Given the description of an element on the screen output the (x, y) to click on. 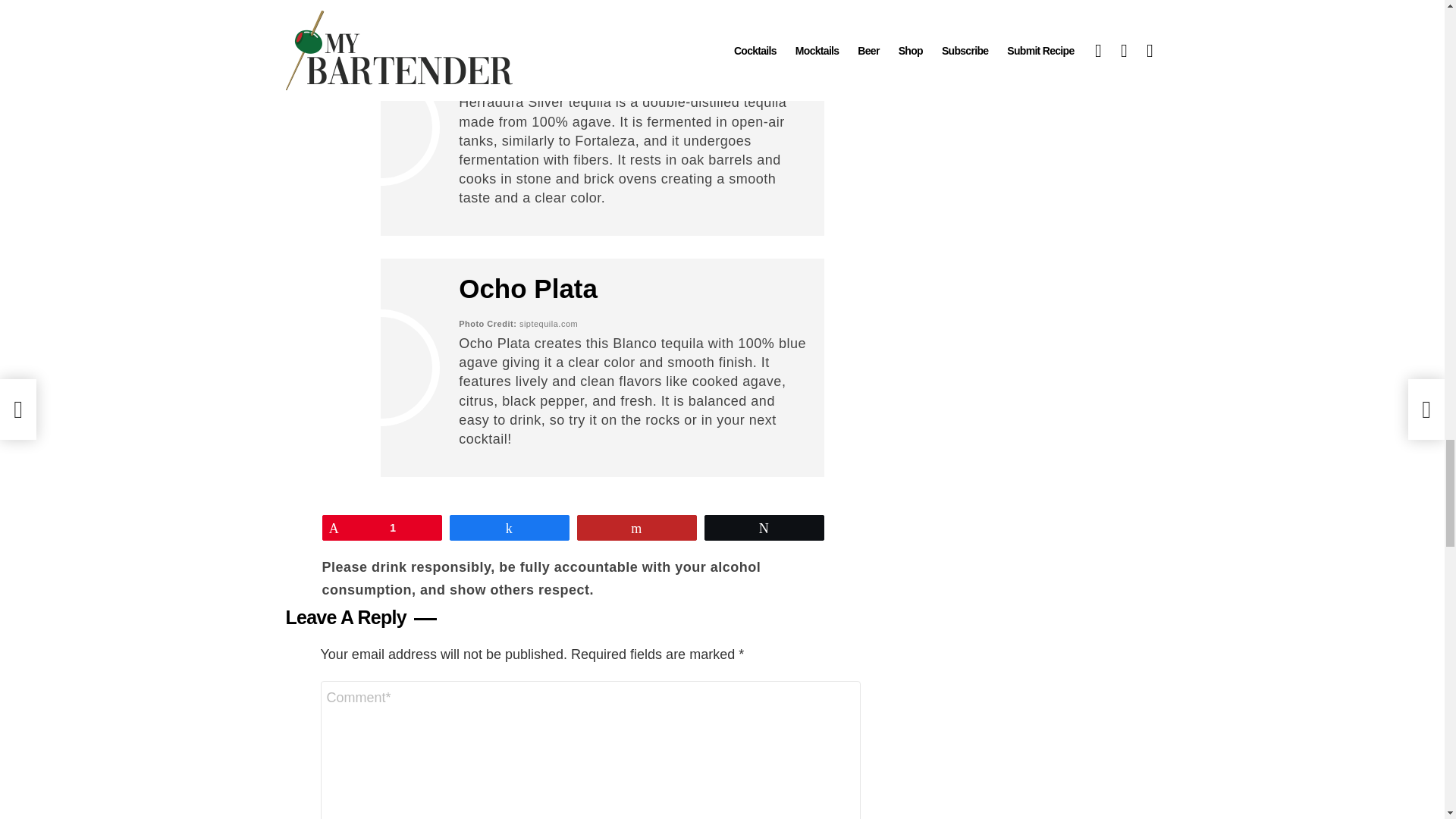
10 Must-Try Blanco Tequilas 10 (381, 127)
